Given the description of an element on the screen output the (x, y) to click on. 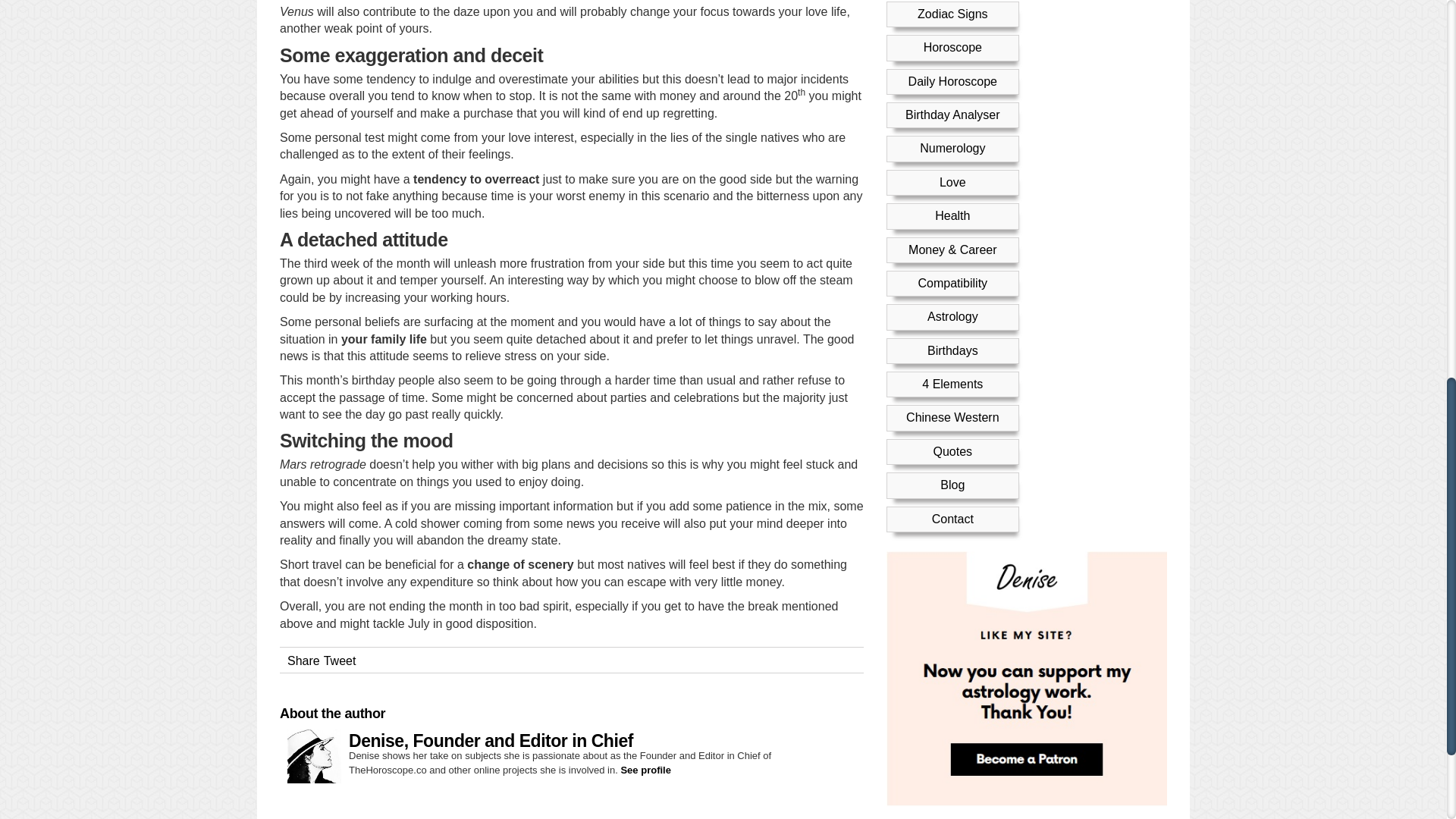
Birthdays (952, 107)
4 Elements (952, 141)
Chinese Western (952, 174)
Astrology (952, 73)
Quotes (952, 208)
Blog (952, 241)
Compatibility (952, 40)
